Given the description of an element on the screen output the (x, y) to click on. 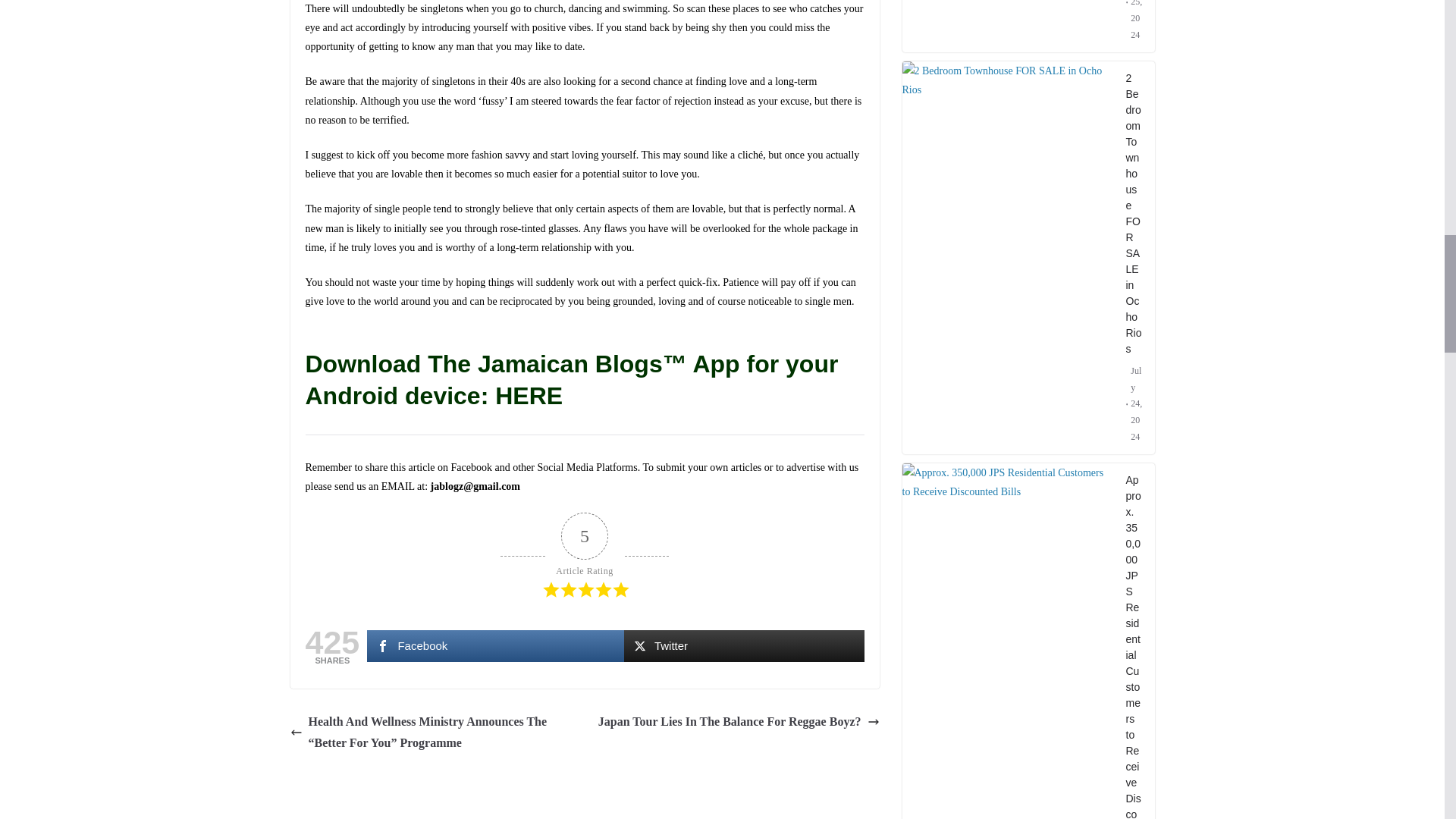
Japan Tour Lies In The Balance For Reggae Boyz? (738, 722)
Facebook (494, 645)
Twitter (744, 645)
